Given the description of an element on the screen output the (x, y) to click on. 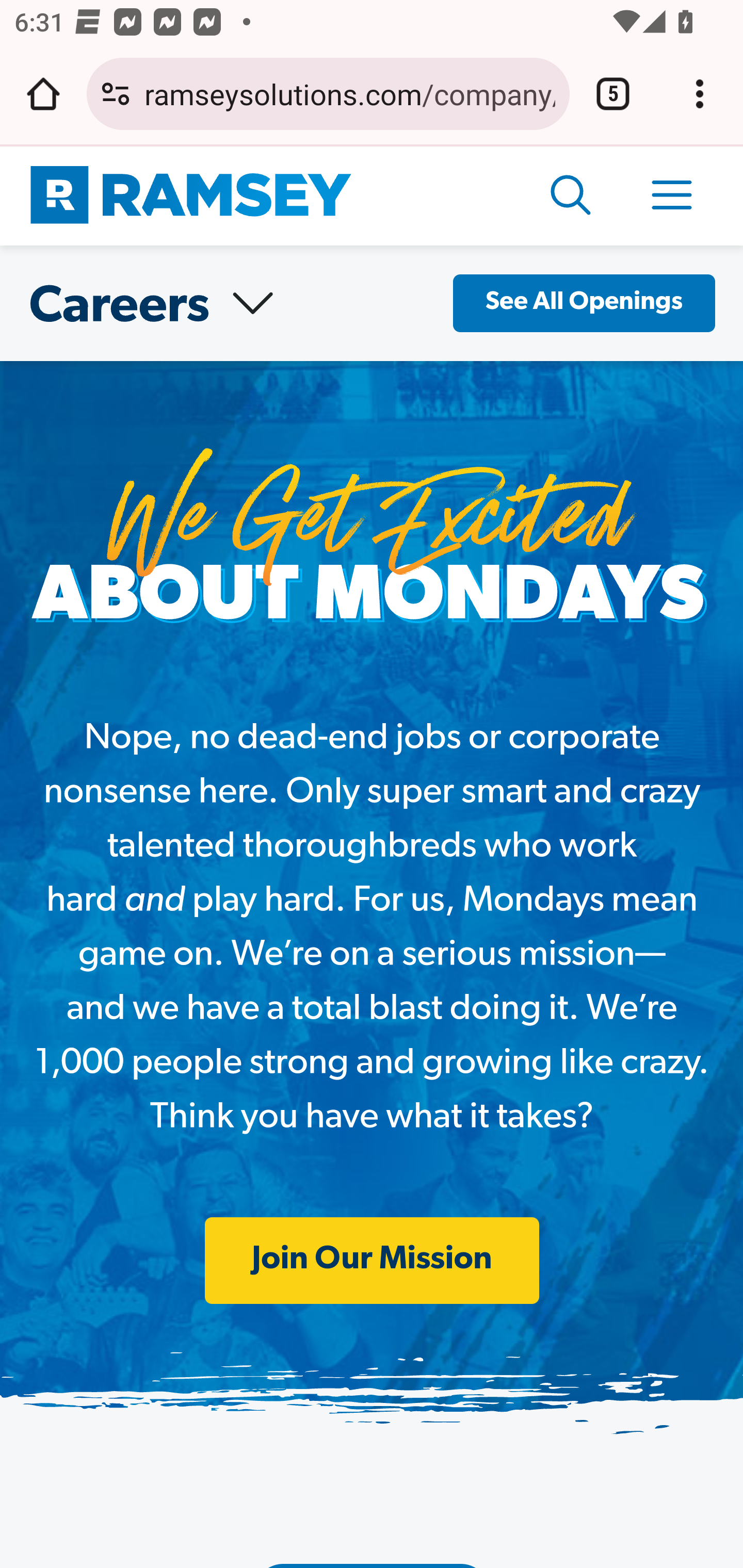
Open the home page (43, 93)
Connection is secure (115, 93)
Switch or close tabs (612, 93)
Customize and control Google Chrome (699, 93)
ramseysolutions.com/company/careers (349, 92)
Menu (672, 195)
Ramsey Solutions (190, 195)
See All Openings (583, 303)
Expand (252, 304)
Join Our Mission (371, 1260)
